Given the description of an element on the screen output the (x, y) to click on. 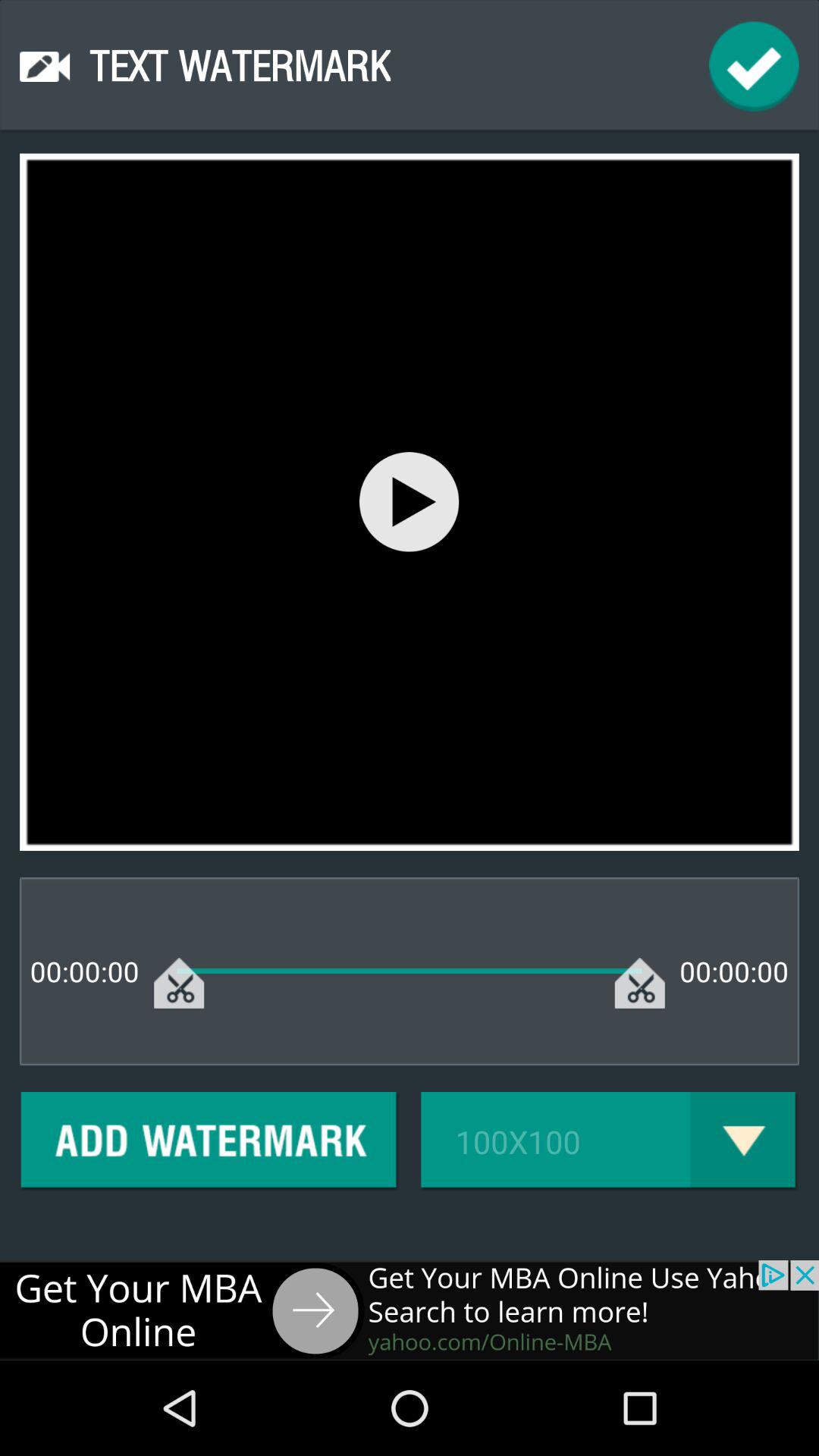
play button (408, 501)
